Given the description of an element on the screen output the (x, y) to click on. 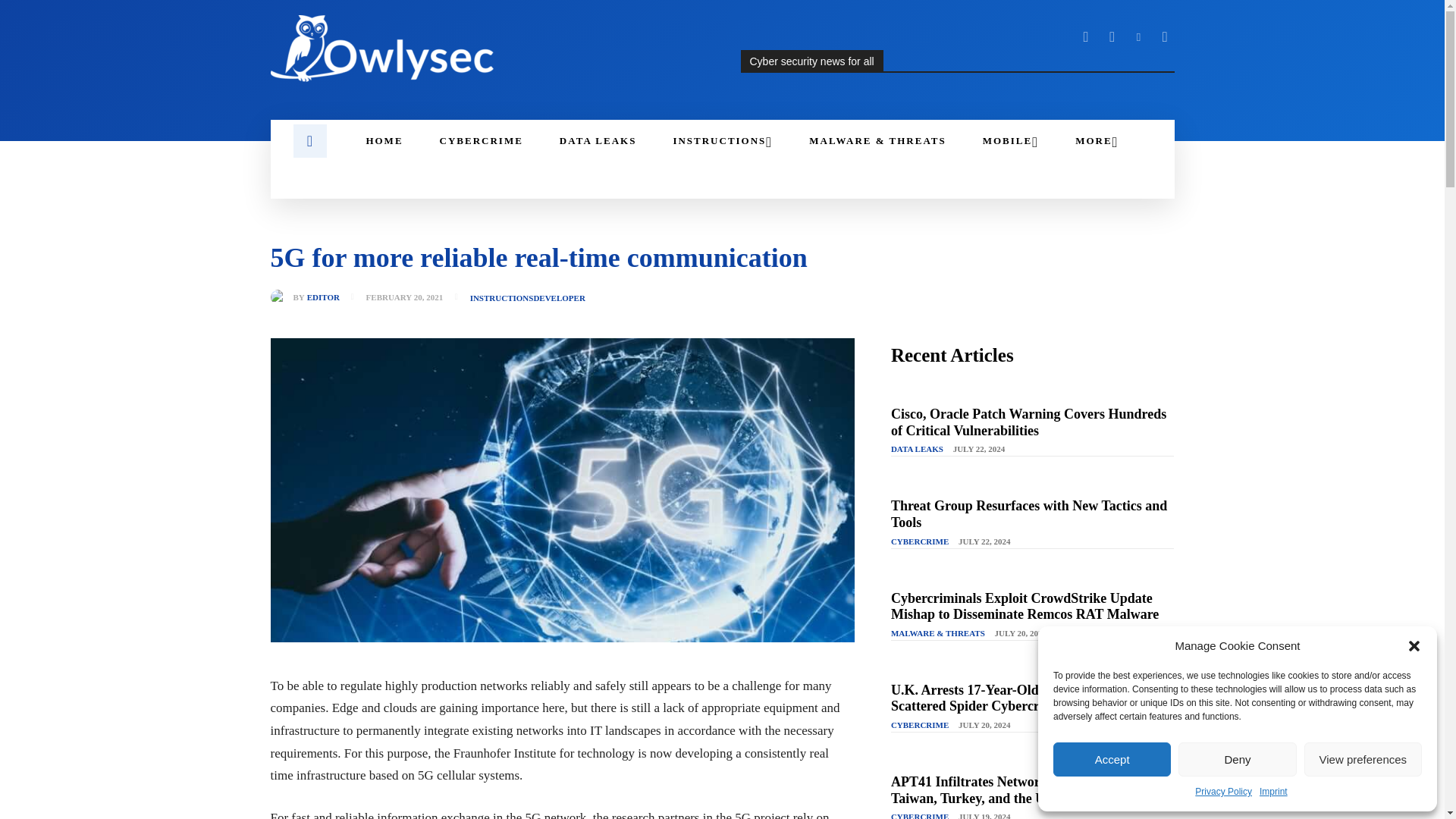
Facebook (1086, 36)
Twitter (1165, 36)
Privacy Policy (1223, 791)
Linkedin (1138, 36)
Deny (1236, 759)
Cyber Security News (383, 48)
Instagram (1111, 36)
View preferences (1363, 759)
Cyber Security News (486, 48)
Accept (1111, 759)
Imprint (1273, 791)
